Given the description of an element on the screen output the (x, y) to click on. 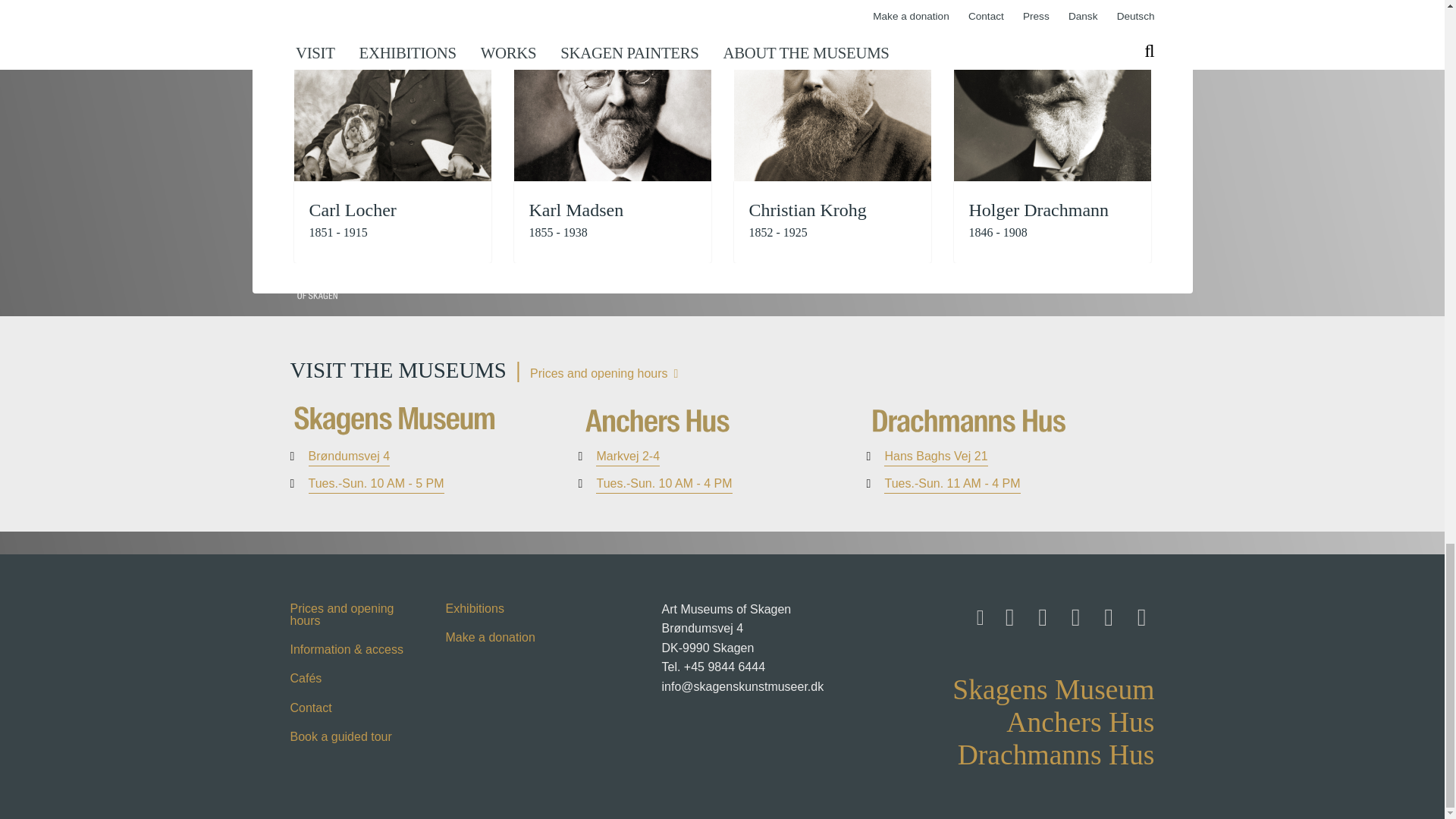
Flickr (1105, 612)
Twitter (1072, 612)
Instagram (1039, 612)
